Given the description of an element on the screen output the (x, y) to click on. 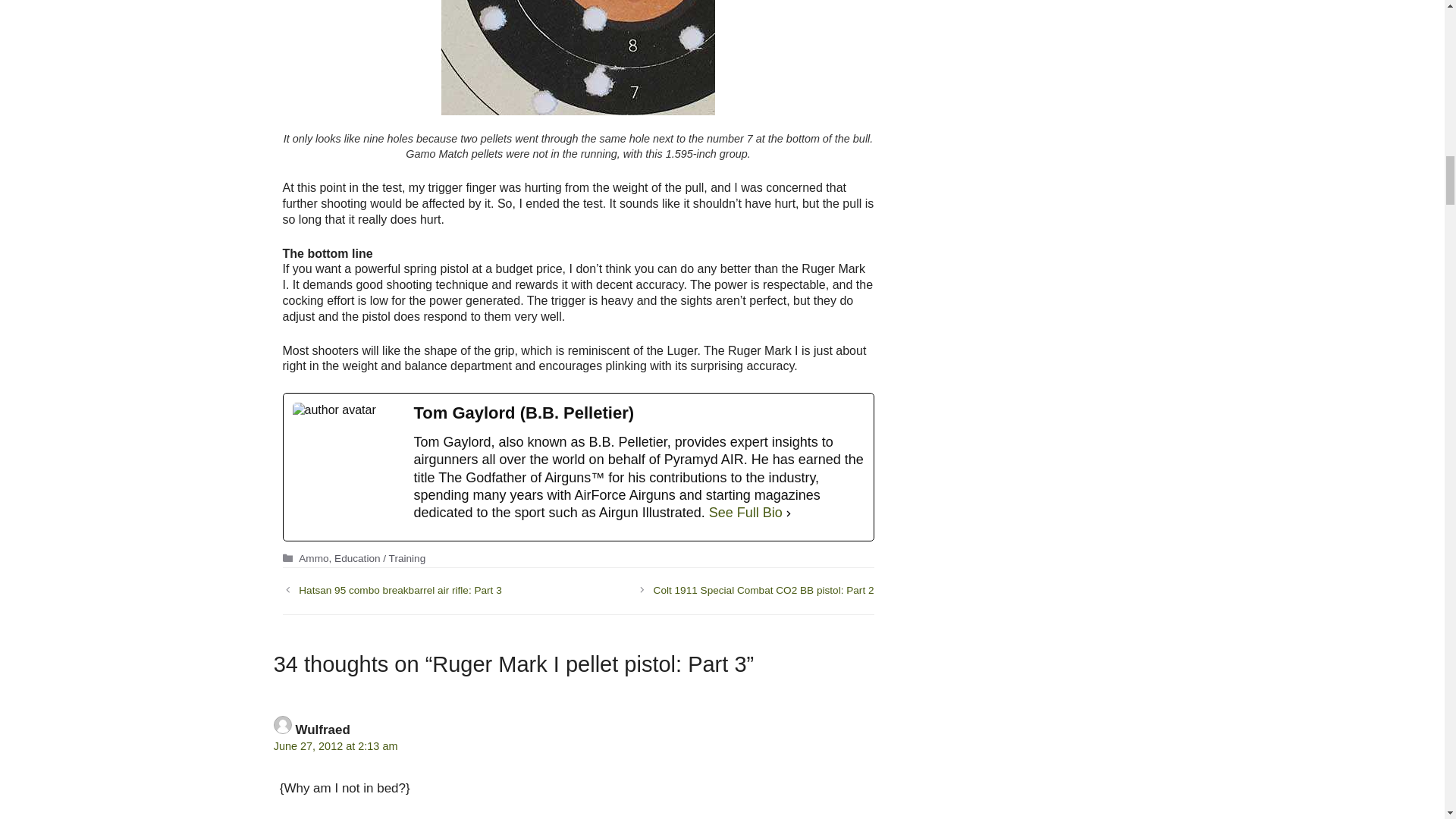
See Full Bio (746, 512)
